Given the description of an element on the screen output the (x, y) to click on. 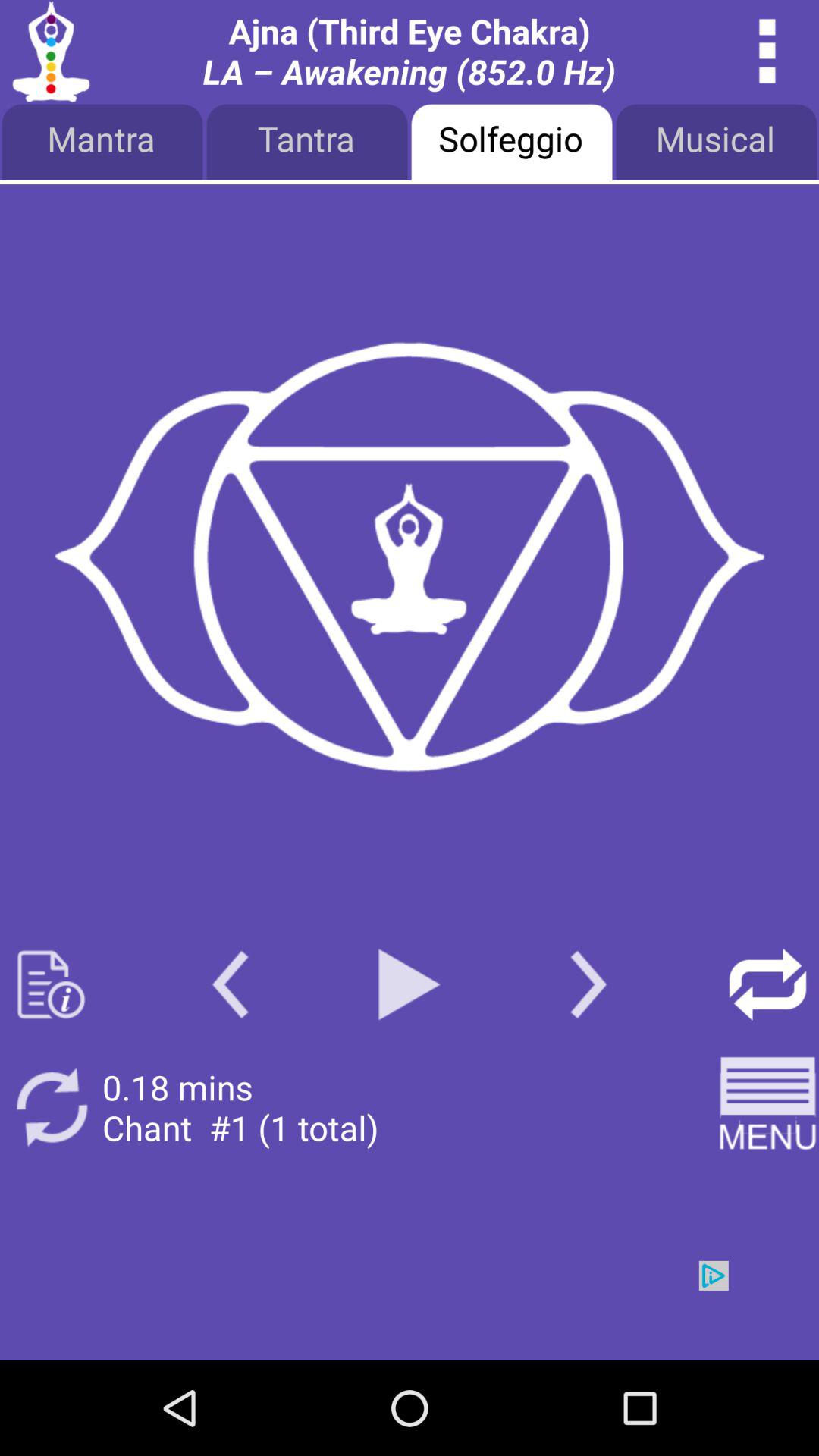
refresh button (51, 1107)
